Given the description of an element on the screen output the (x, y) to click on. 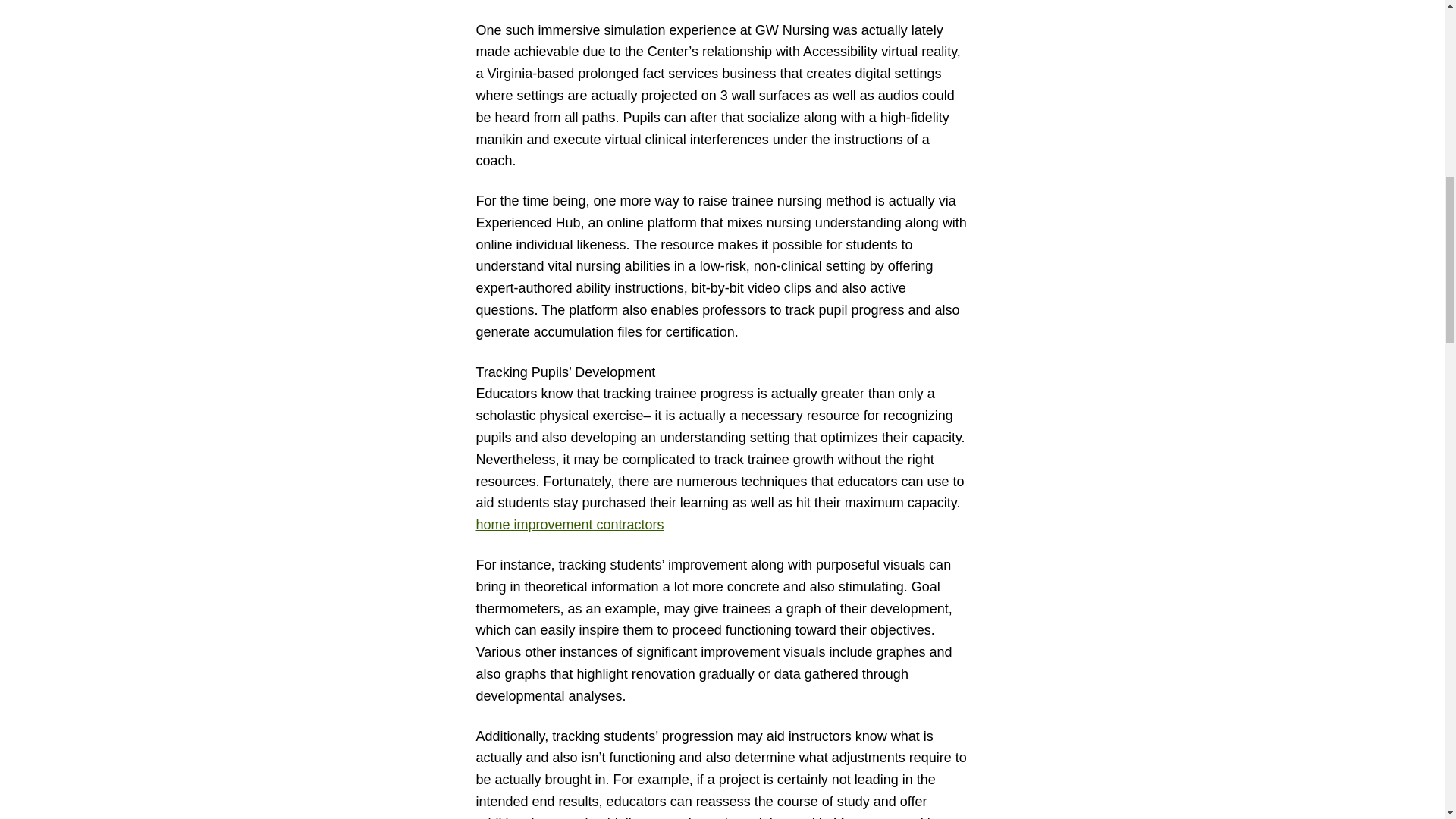
home improvement contractors (569, 524)
